Given the description of an element on the screen output the (x, y) to click on. 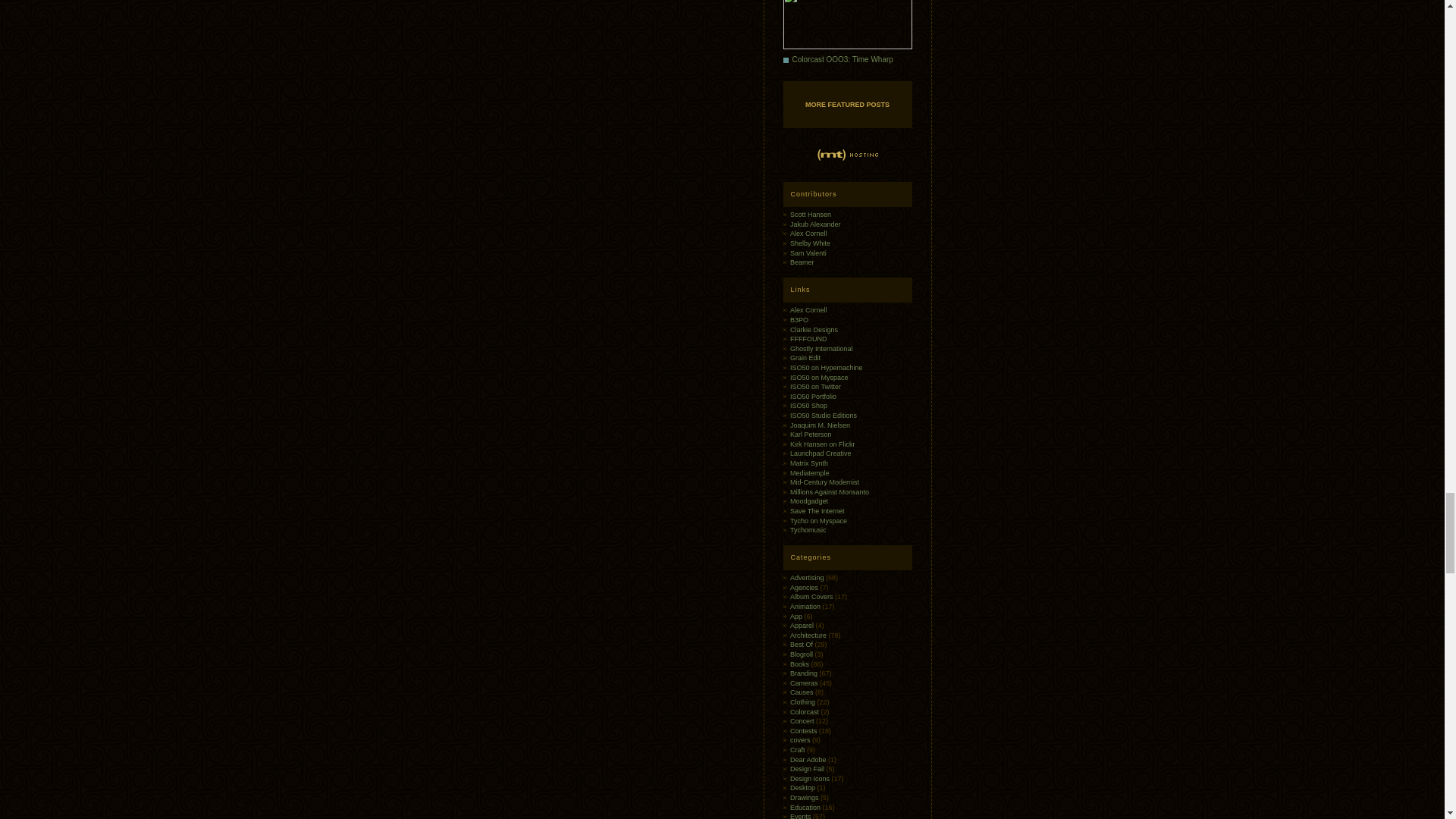
Music from ISO50 on Hypemachine (826, 367)
ISO50 on Twitter (815, 386)
Synth love (809, 462)
ISO50 Portfolio (812, 396)
Karl helps out with the technical aspects of the blog. (810, 434)
The Blog of Joaquim M. Nielsen (820, 425)
